Given the description of an element on the screen output the (x, y) to click on. 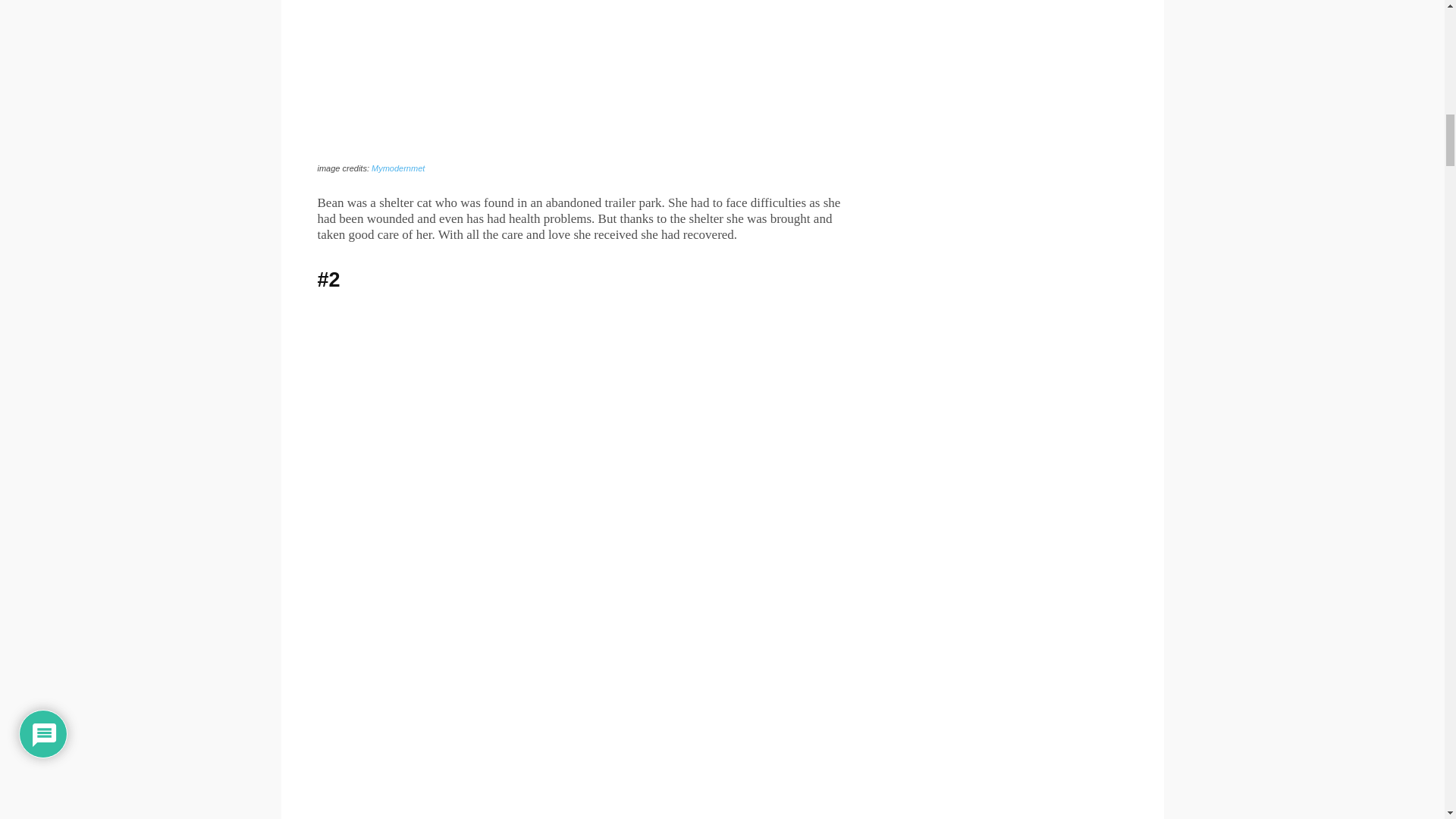
Mymodernmet (398, 167)
